Given the description of an element on the screen output the (x, y) to click on. 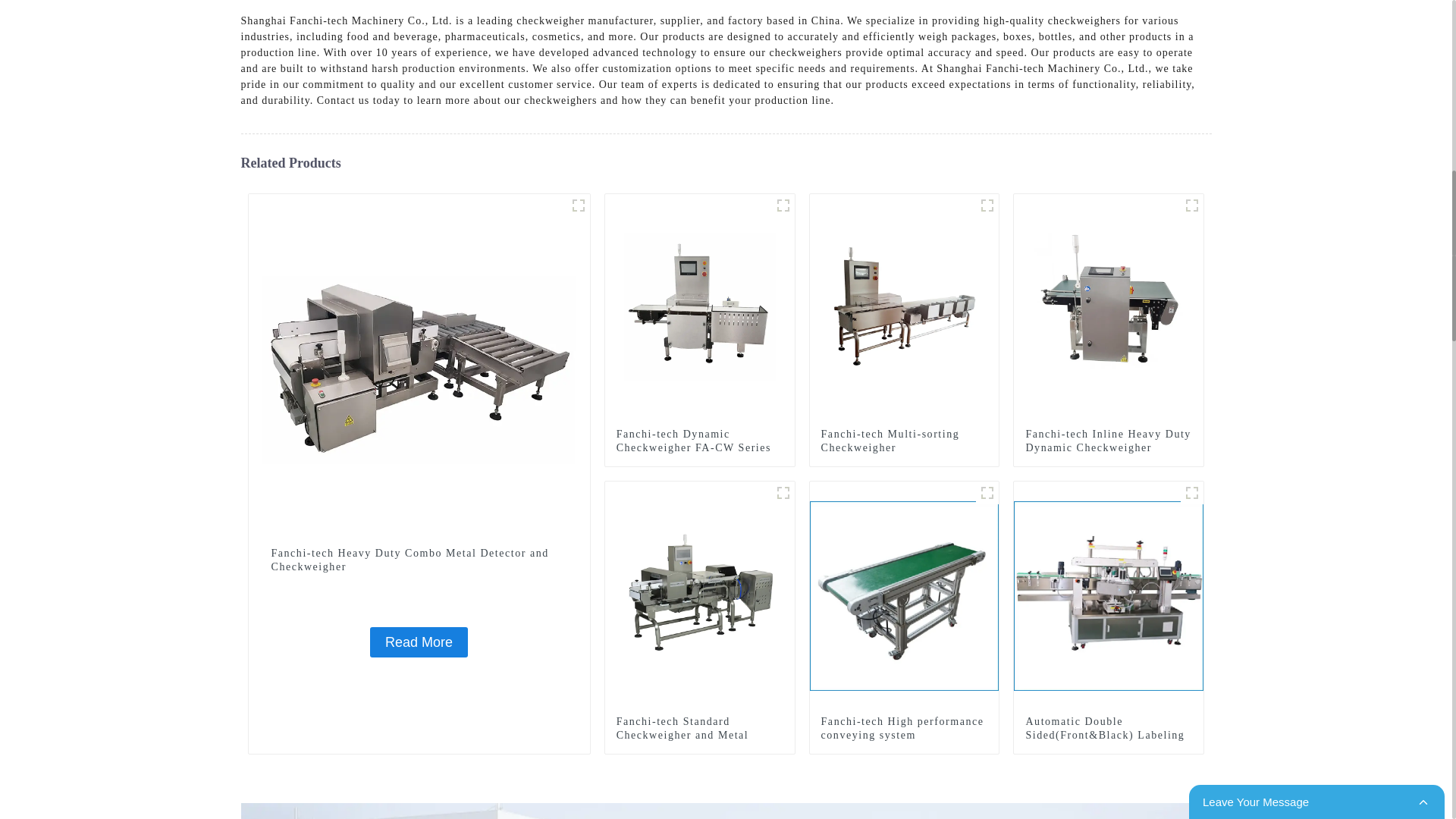
Fanchi-tech Inline Heavy Duty Dynamic Checkweigher (1108, 441)
Fanchi-tech Inline Heavy Duty Dynamic Checkweigher (1108, 307)
Fanchi-tech Multi-sorting Checkweigher (903, 307)
Fanchi-tech Multi-sorting Checkweigher (904, 441)
Standard-Combo-Machine-main (782, 492)
Heavy-Duty-Checkweigher (1192, 205)
Fanchi-tech Dynamic Checkweigher FA-CW Series (699, 441)
Multi-sorting-Checkweigher-1 (986, 205)
Heavy-Duty-Combo-Machine (578, 205)
